Given the description of an element on the screen output the (x, y) to click on. 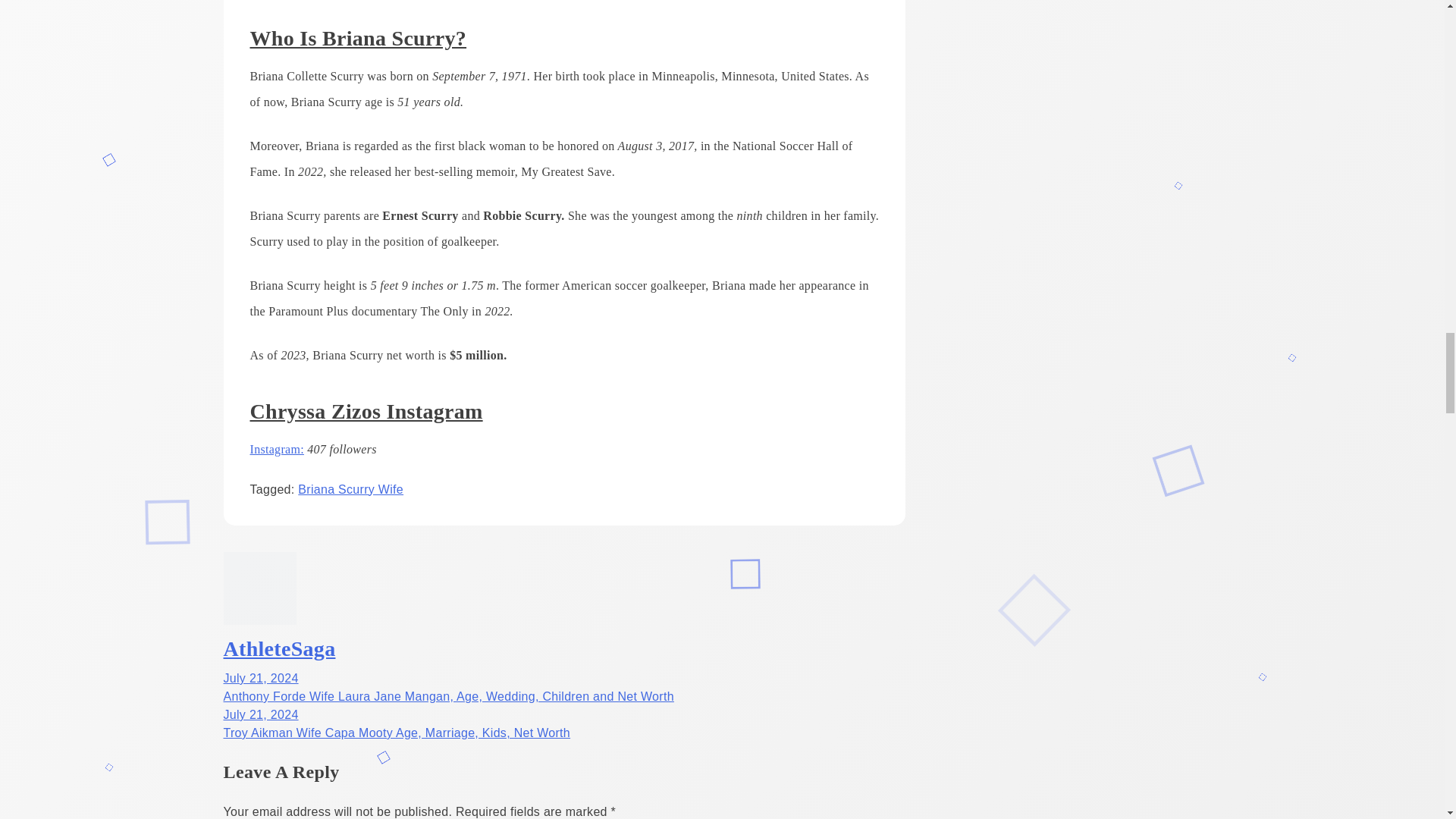
Briana Scurry Wife (350, 489)
AthleteSaga (278, 648)
Instagram: (277, 449)
